Given the description of an element on the screen output the (x, y) to click on. 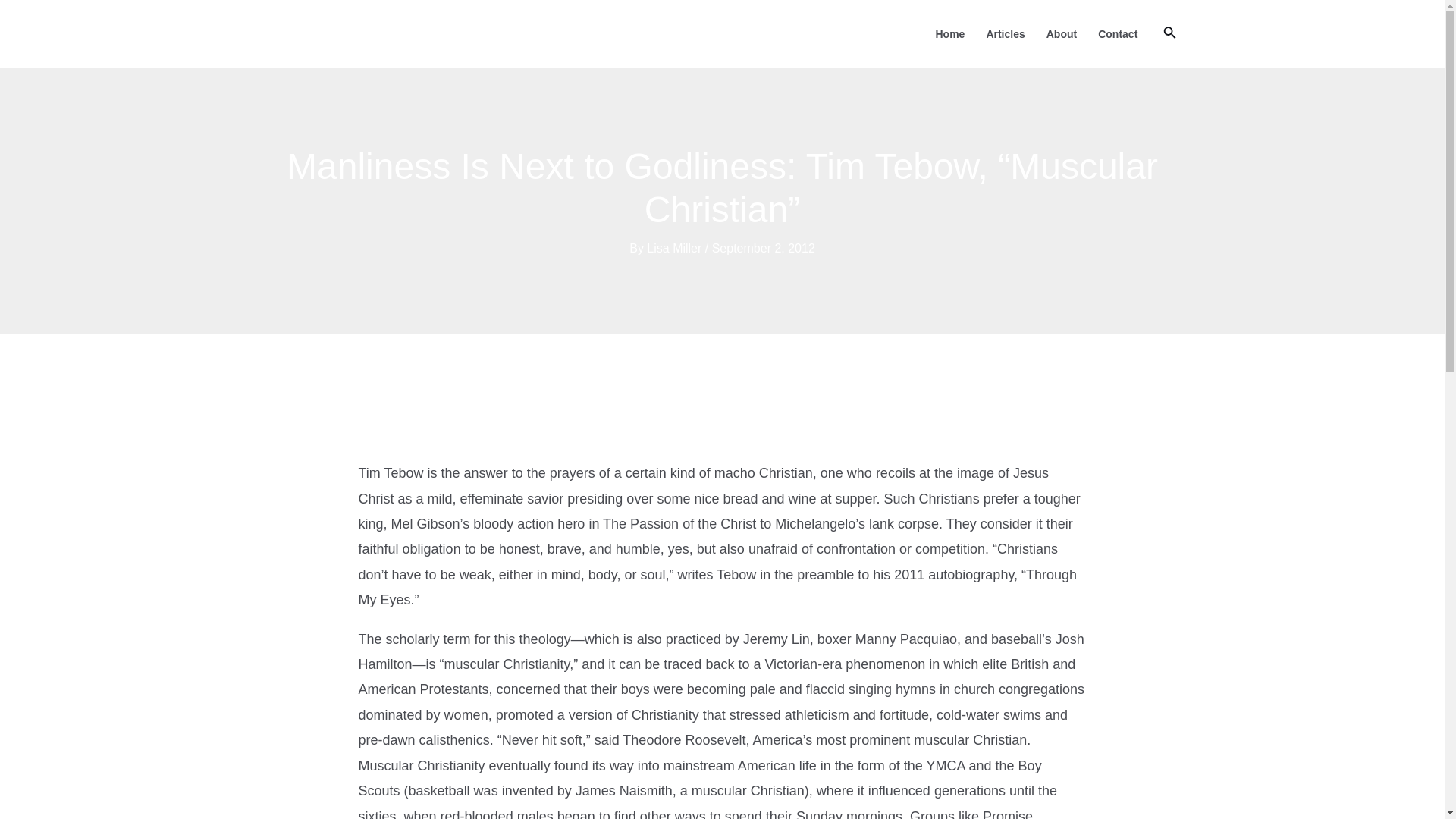
Articles (1005, 33)
Home (949, 33)
Lisa Miller (675, 247)
Contact (1117, 33)
About (1061, 33)
View all posts by Lisa Miller (675, 247)
